Given the description of an element on the screen output the (x, y) to click on. 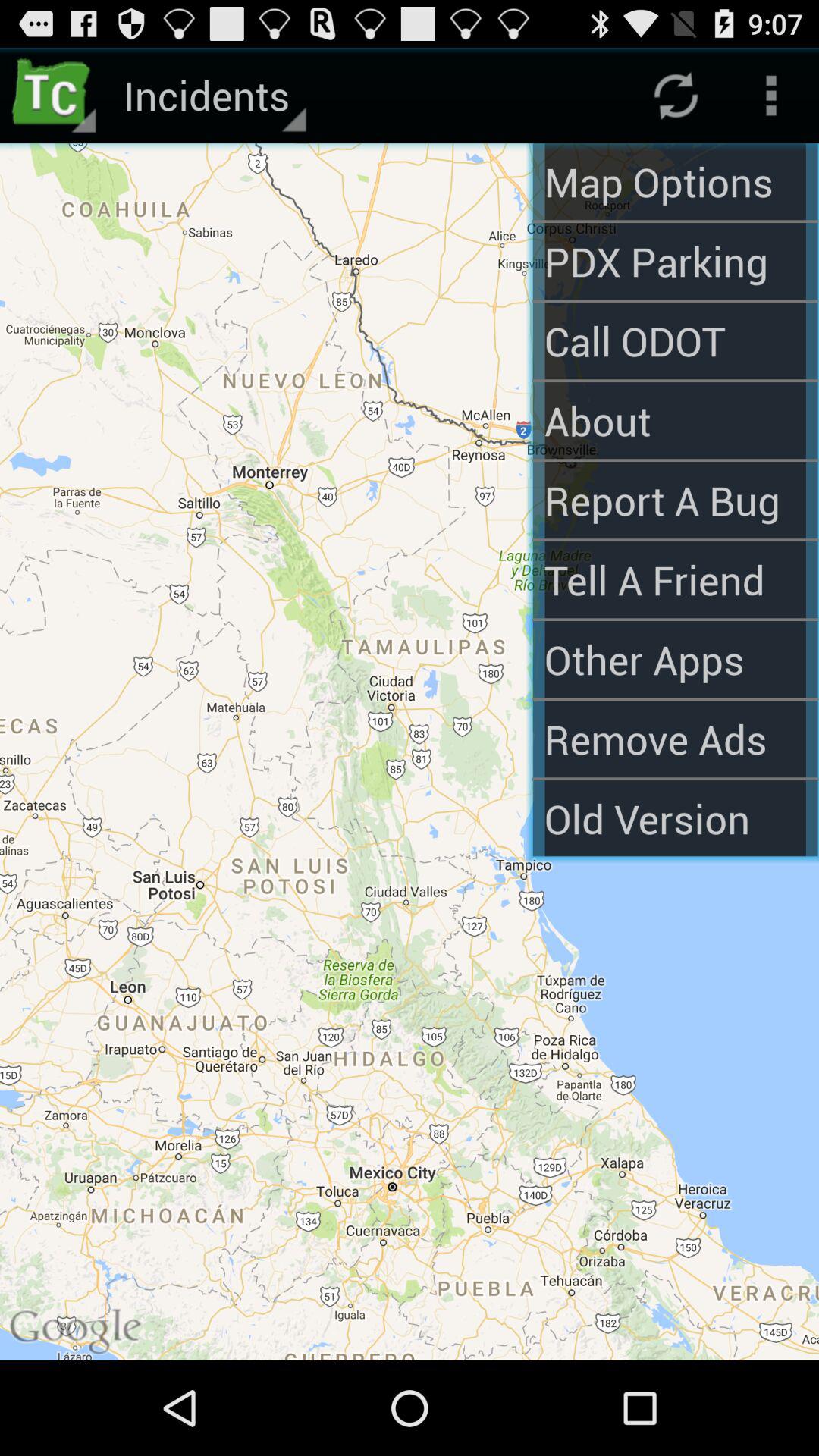
launch the call odot (675, 340)
